Given the description of an element on the screen output the (x, y) to click on. 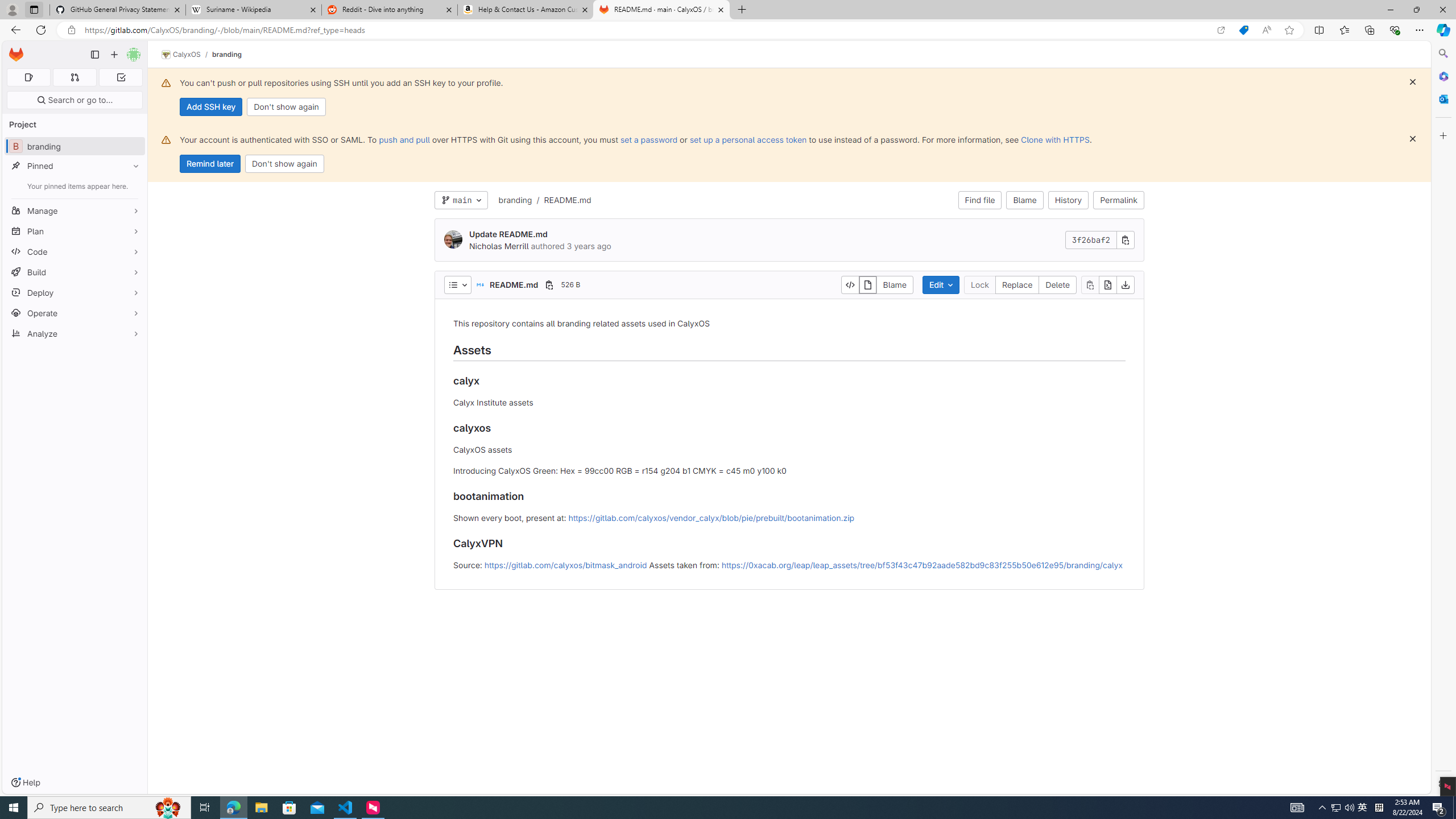
Plan (74, 230)
Suriname - Wikipedia (253, 9)
push and pull (403, 139)
Build (74, 271)
Nicholas Merrill (498, 245)
Deploy (74, 292)
Copy commit SHA (1125, 239)
Nicholas Merrill's avatar (453, 239)
